Given the description of an element on the screen output the (x, y) to click on. 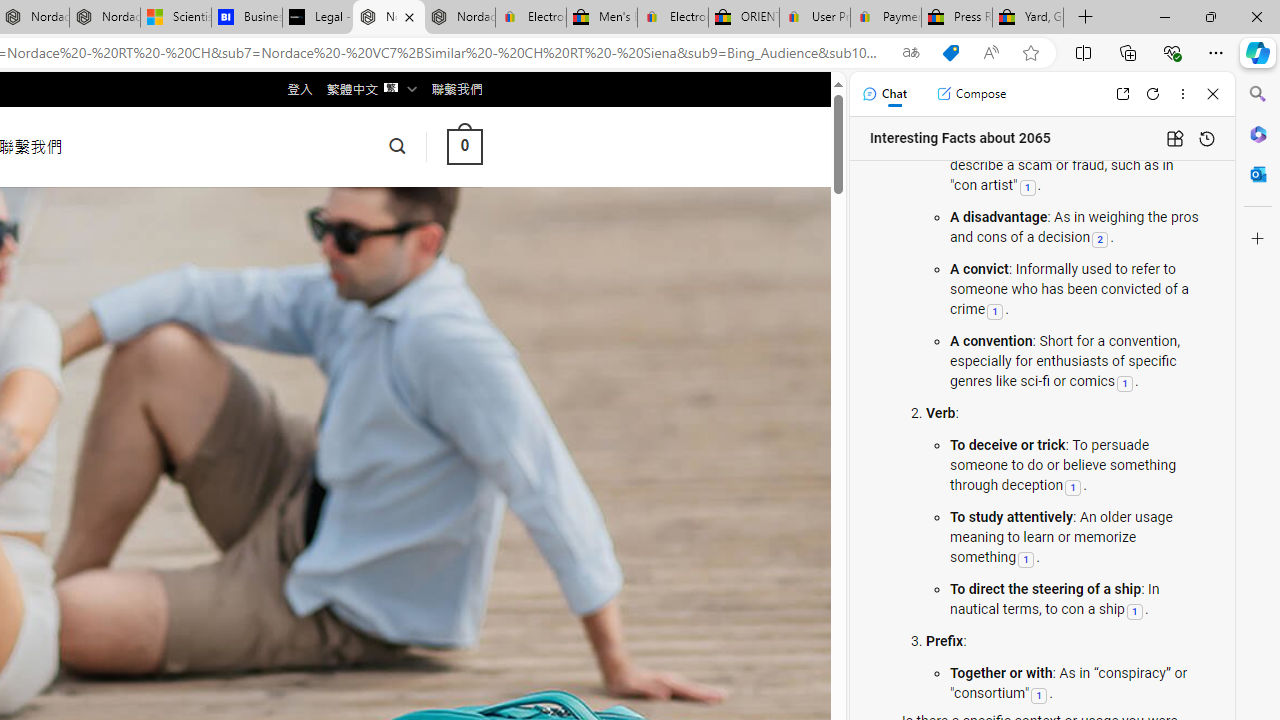
This site has coupons! Shopping in Microsoft Edge (950, 53)
